Given the description of an element on the screen output the (x, y) to click on. 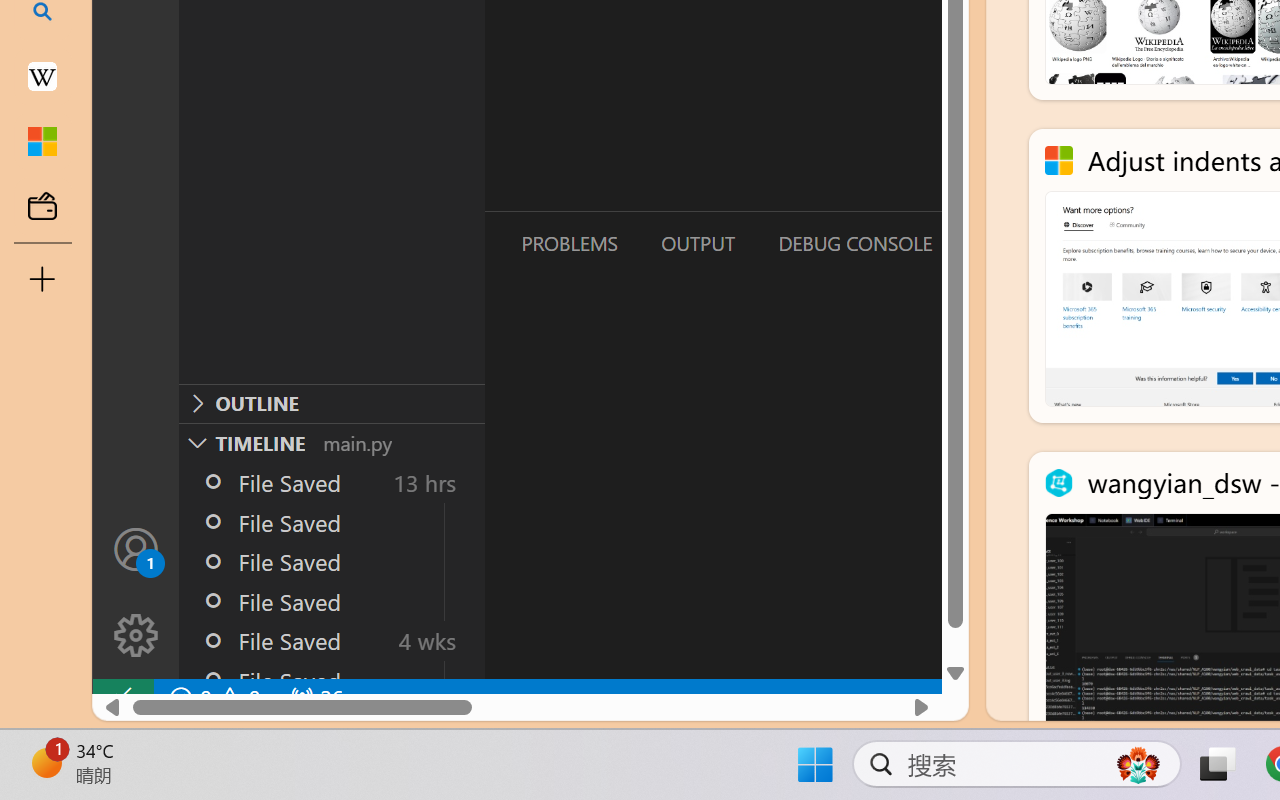
Accounts - Sign in requested (135, 548)
Earth - Wikipedia (42, 75)
Problems (Ctrl+Shift+M) (567, 243)
No Problems (212, 698)
Timeline Section (331, 442)
